Given the description of an element on the screen output the (x, y) to click on. 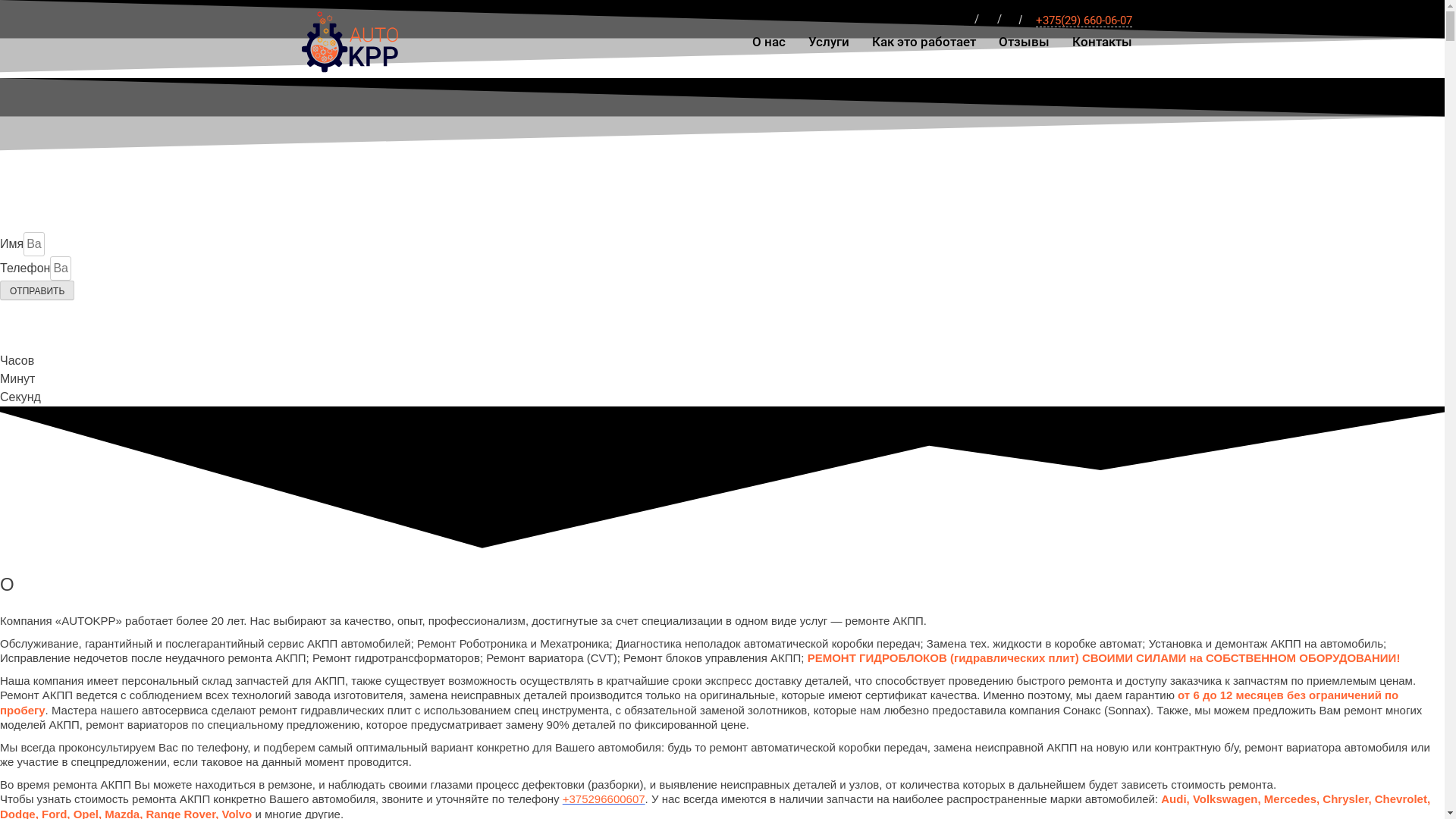
WhatsApp Element type: hover (964, 20)
+375(29) 660-06-07 Element type: text (1083, 21)
+375296600607 Element type: text (603, 798)
Telegram Element type: hover (987, 20)
